Given the description of an element on the screen output the (x, y) to click on. 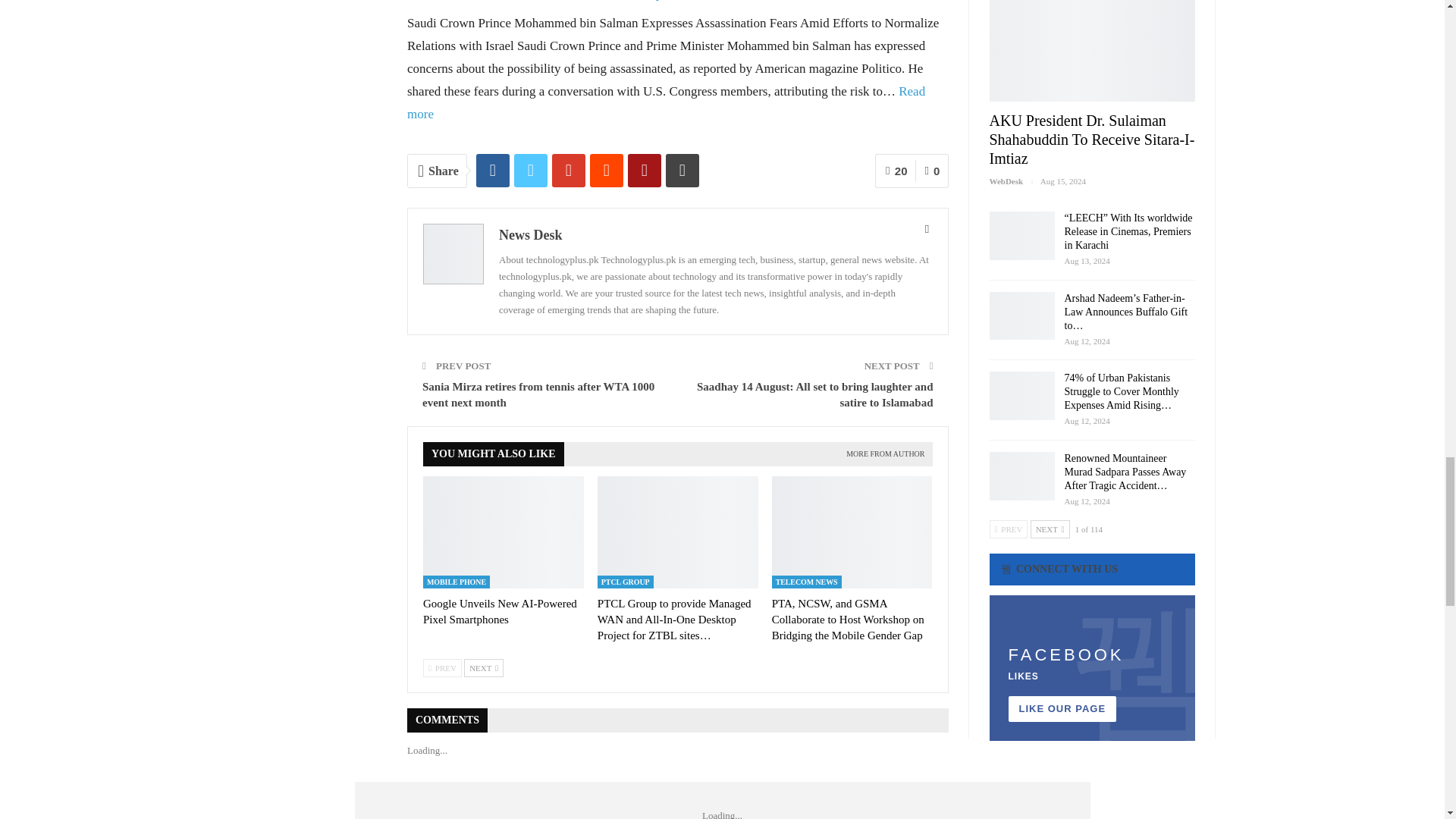
Google Unveils New AI-Powered Pixel Smartphones (503, 531)
Previous (442, 668)
Google Unveils New AI-Powered Pixel Smartphones (499, 611)
Next (483, 668)
